Given the description of an element on the screen output the (x, y) to click on. 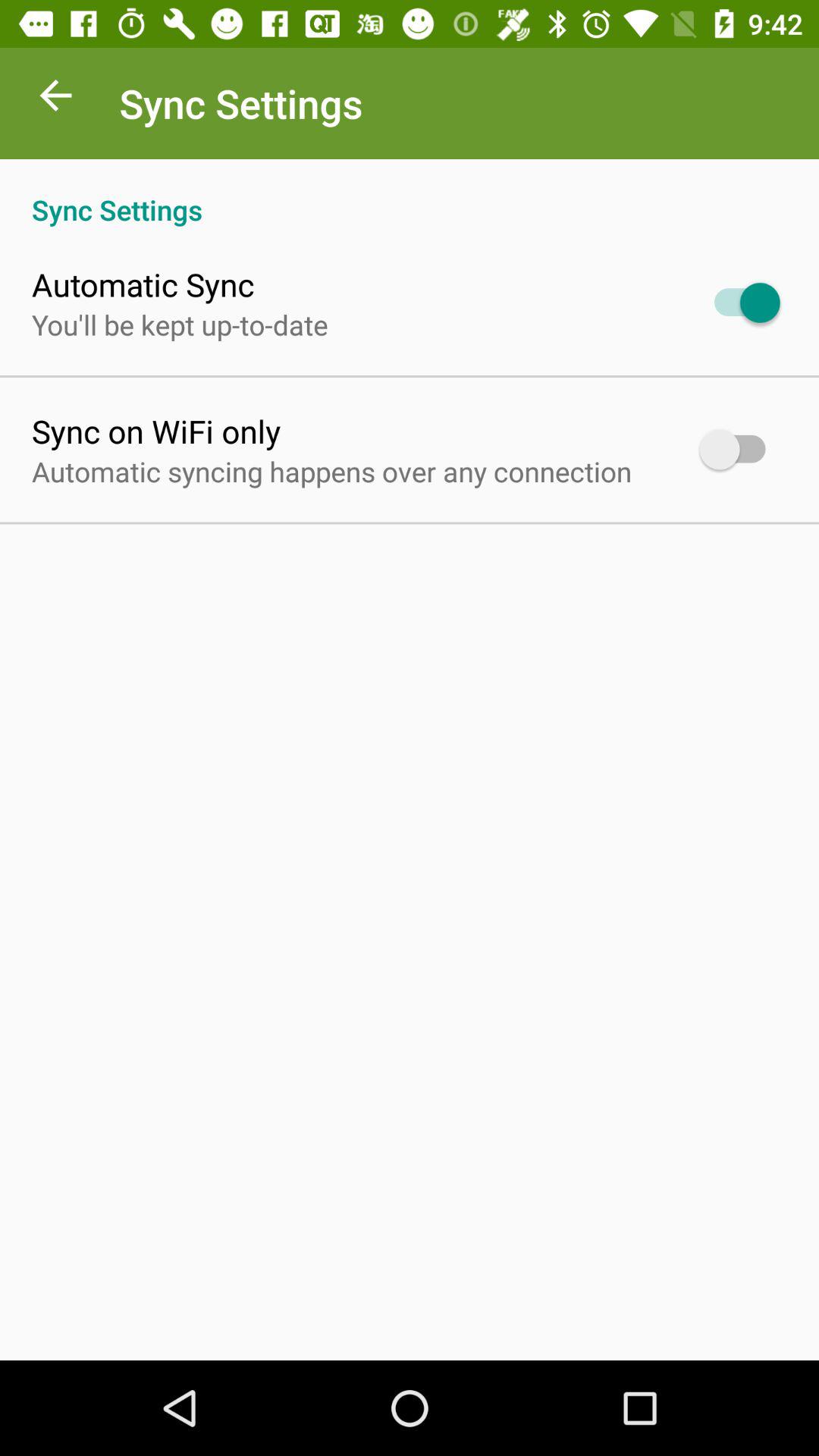
tap item next to sync settings icon (55, 99)
